Given the description of an element on the screen output the (x, y) to click on. 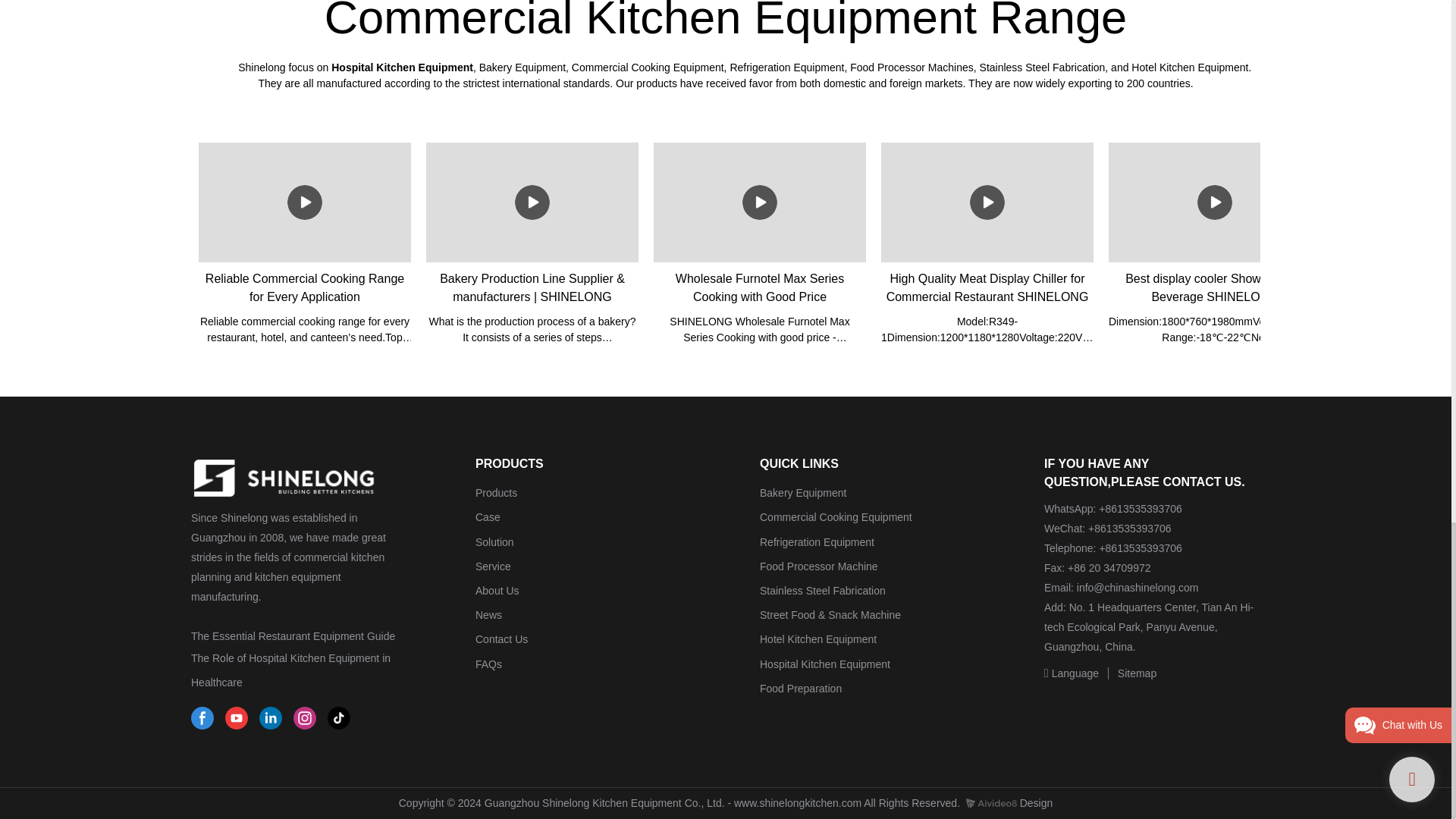
Reliable Commercial Cooking Range for Every Application (304, 247)
Wholesale Furnotel Max Series Cooking with Good Price (759, 247)
